Given the description of an element on the screen output the (x, y) to click on. 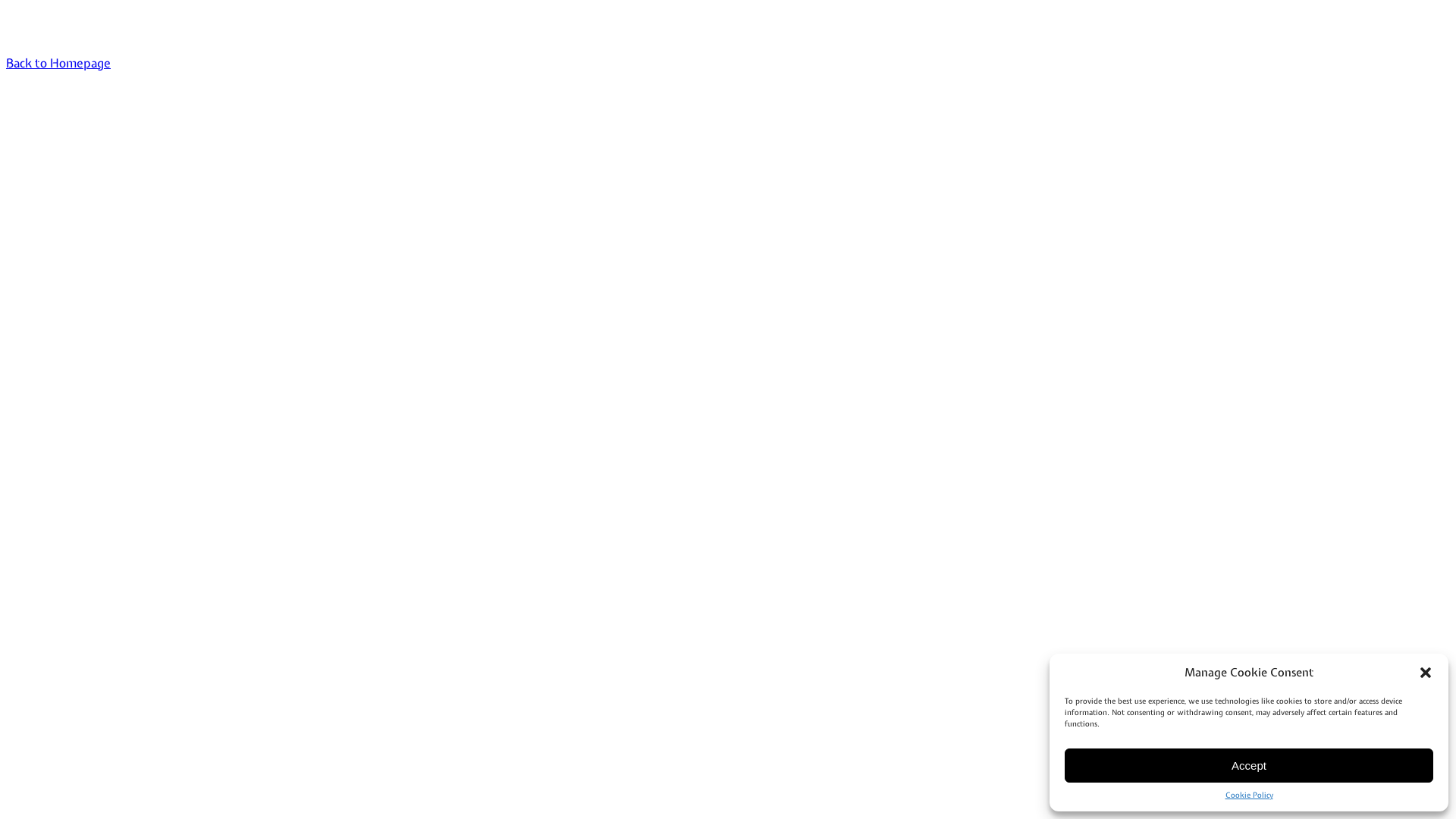
Back to Homepage Element type: text (58, 62)
Accept Element type: text (1248, 765)
Cookie Policy Element type: text (1249, 795)
